Given the description of an element on the screen output the (x, y) to click on. 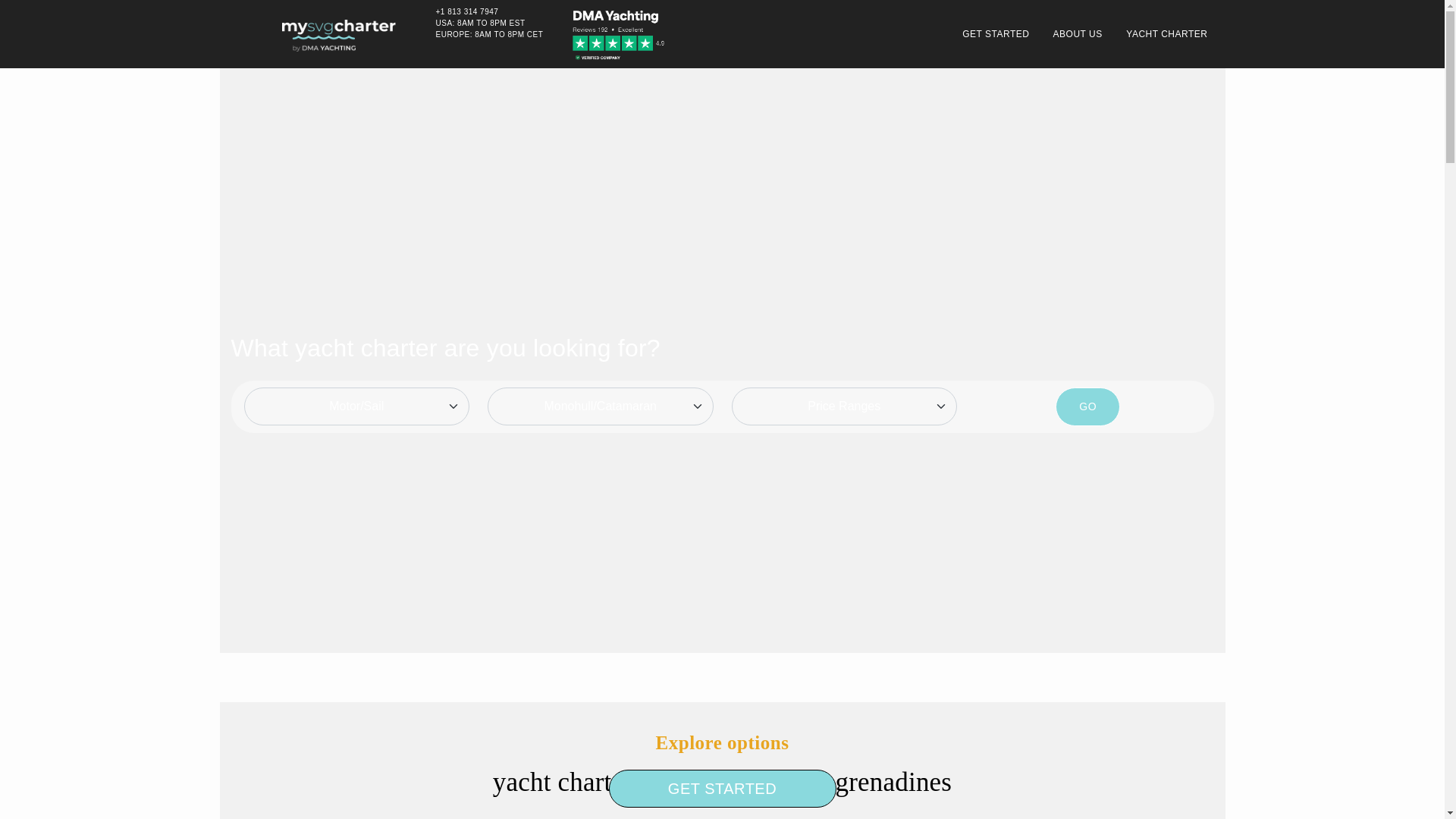
ABOUT US (1071, 33)
YACHT CHARTER (1161, 33)
